Given the description of an element on the screen output the (x, y) to click on. 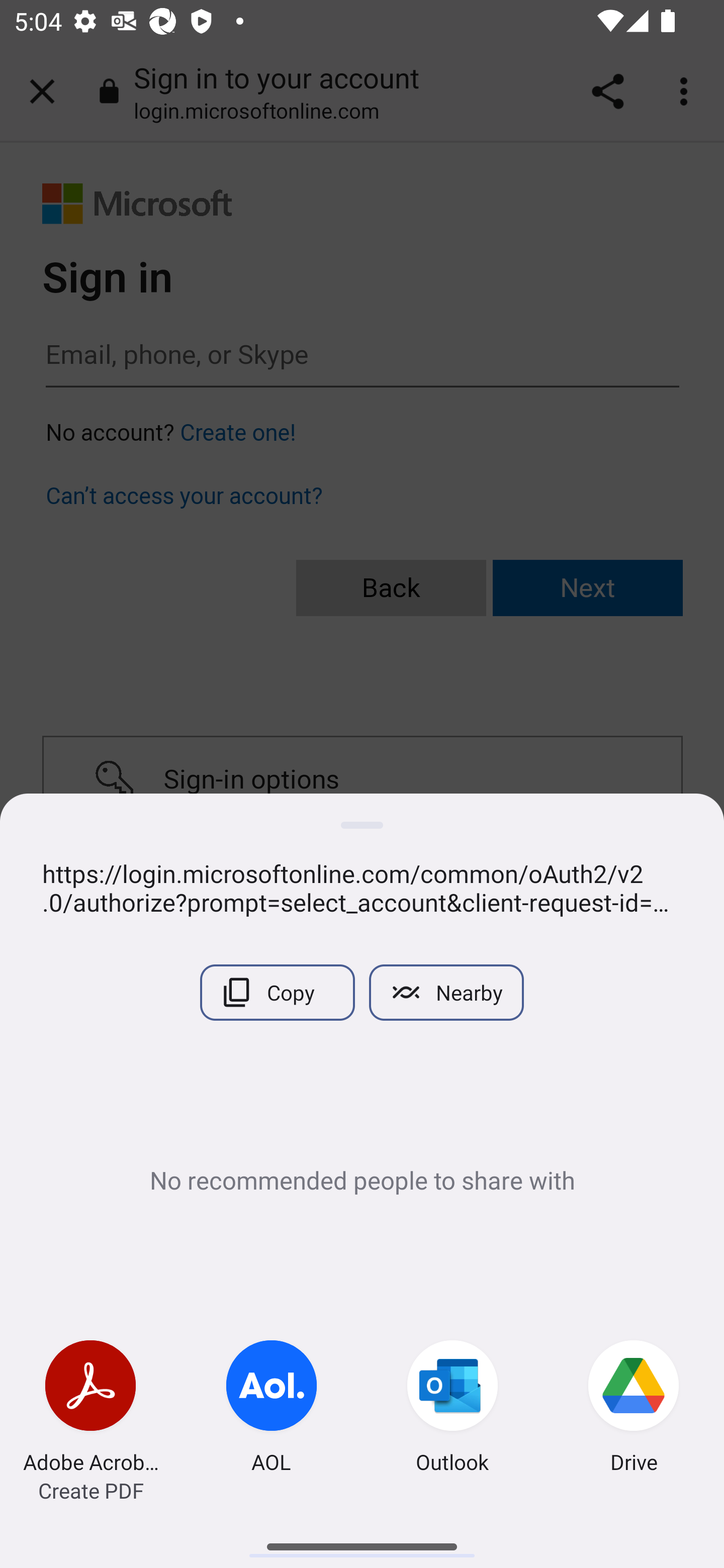
Copy (276, 992)
Nearby (446, 992)
Adobe Acrobat Create PDF (90, 1409)
AOL (271, 1409)
Outlook (452, 1409)
Drive (633, 1409)
